Given the description of an element on the screen output the (x, y) to click on. 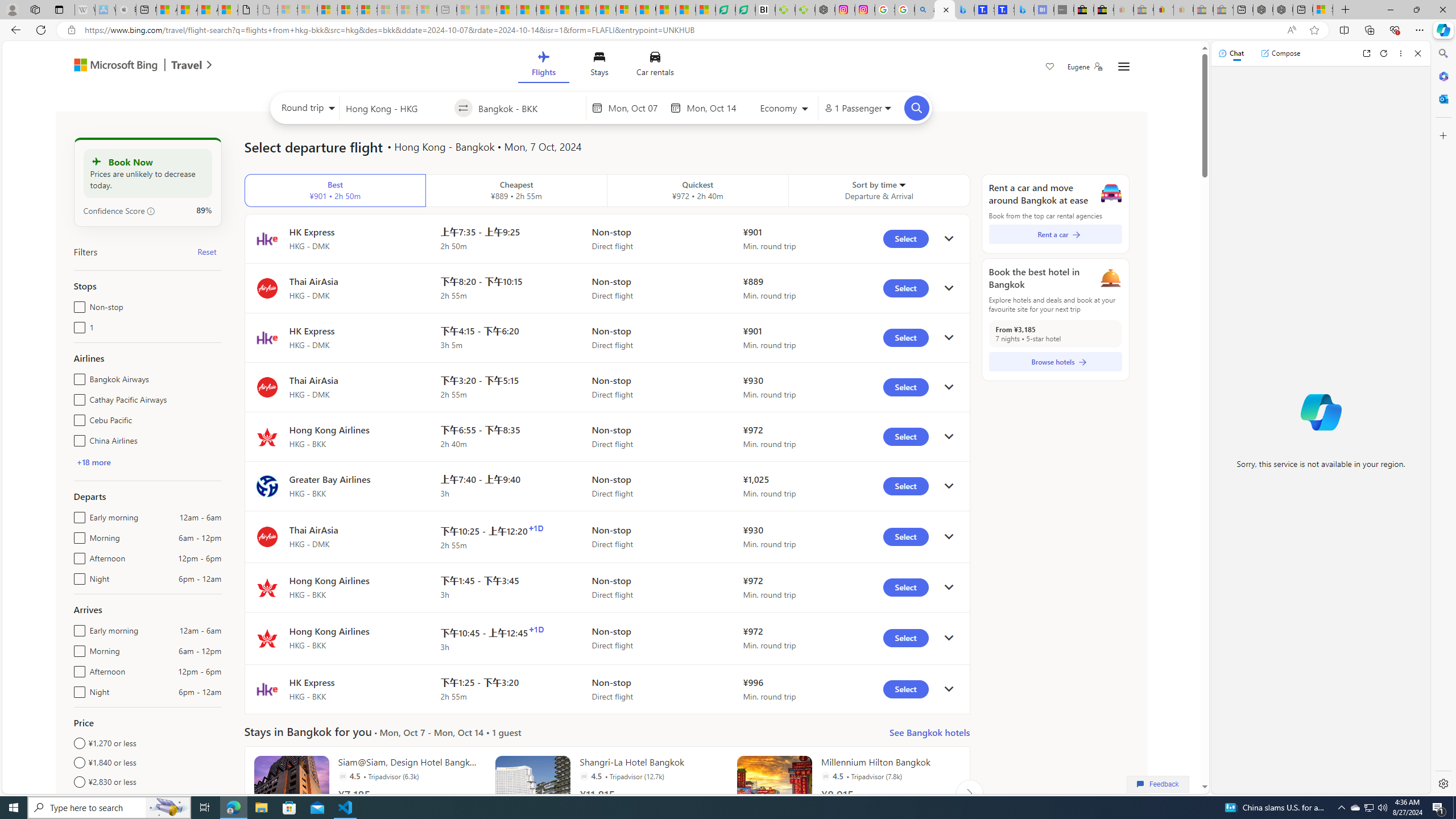
Class: msft-travel-logo (186, 64)
Any price (146, 801)
Class: msft-bing-logo msft-bing-logo-desktop (112, 64)
Swap source and destination (463, 108)
Tripadvisor (825, 775)
Cathay Pacific Airways (76, 397)
Rent a car (1055, 234)
Sign in to your Microsoft account (1322, 9)
Aberdeen, Hong Kong SAR weather forecast | Microsoft Weather (186, 9)
